Given the description of an element on the screen output the (x, y) to click on. 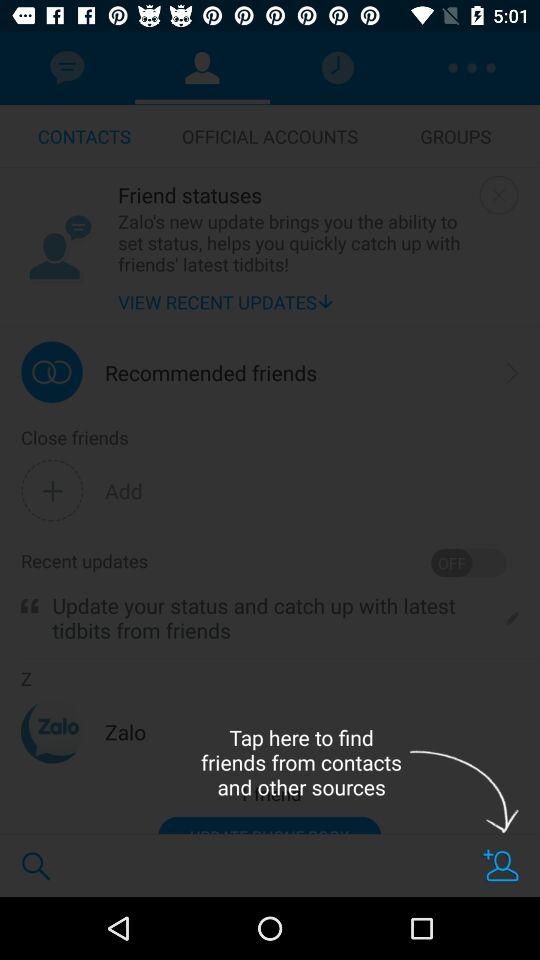
turn off the friend statuses item (294, 194)
